Given the description of an element on the screen output the (x, y) to click on. 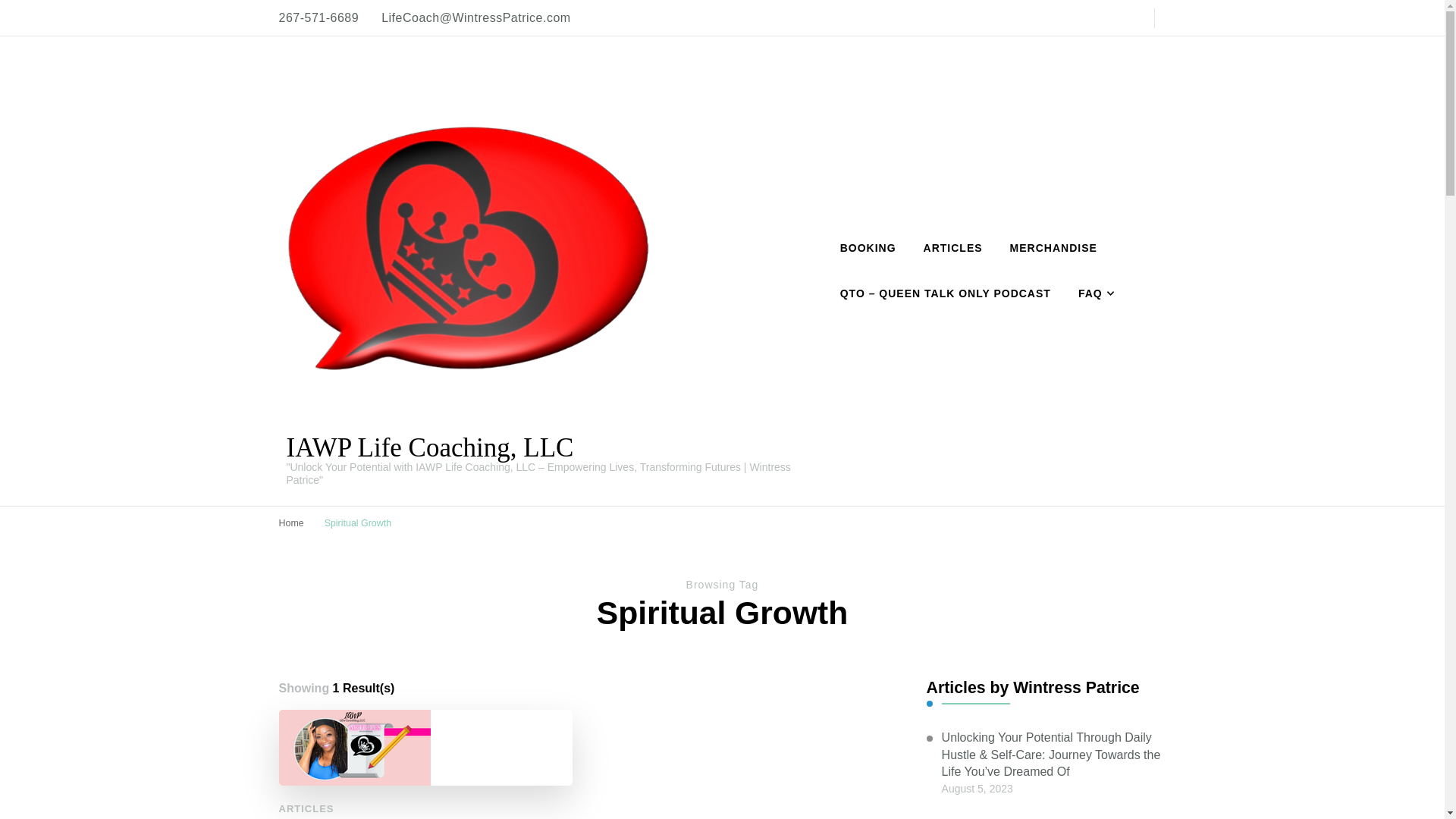
FAQ (1092, 293)
ARTICLES (306, 808)
267-571-6689 (319, 17)
Spiritual Growth (357, 522)
Home (291, 522)
IAWP Life Coaching, LLC (429, 447)
BOOKING (868, 248)
MERCHANDISE (1052, 248)
ARTICLES (952, 248)
